Given the description of an element on the screen output the (x, y) to click on. 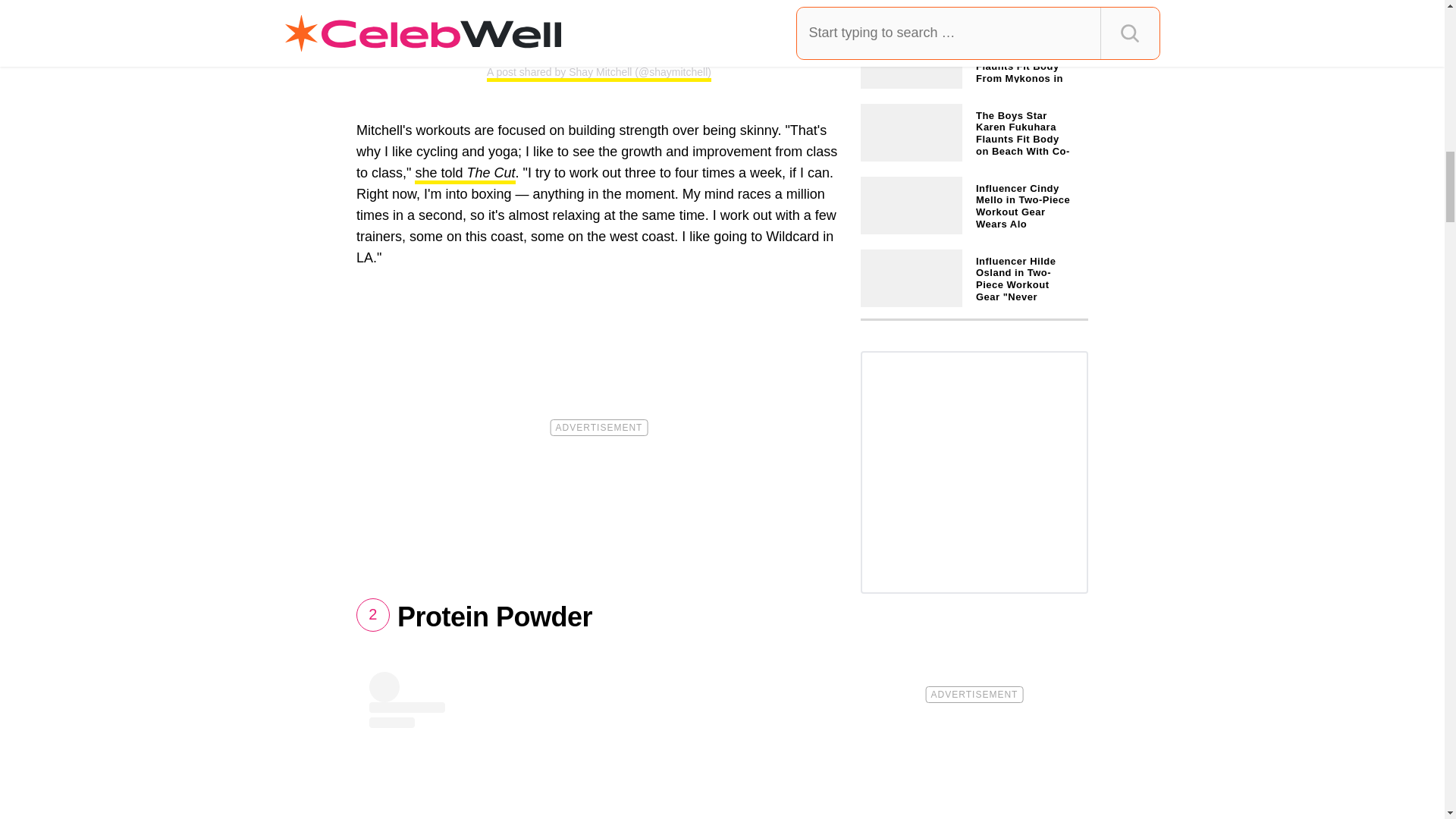
View this post on Instagram (598, 745)
View this post on Instagram (598, 20)
she told The Cut (464, 174)
